Given the description of an element on the screen output the (x, y) to click on. 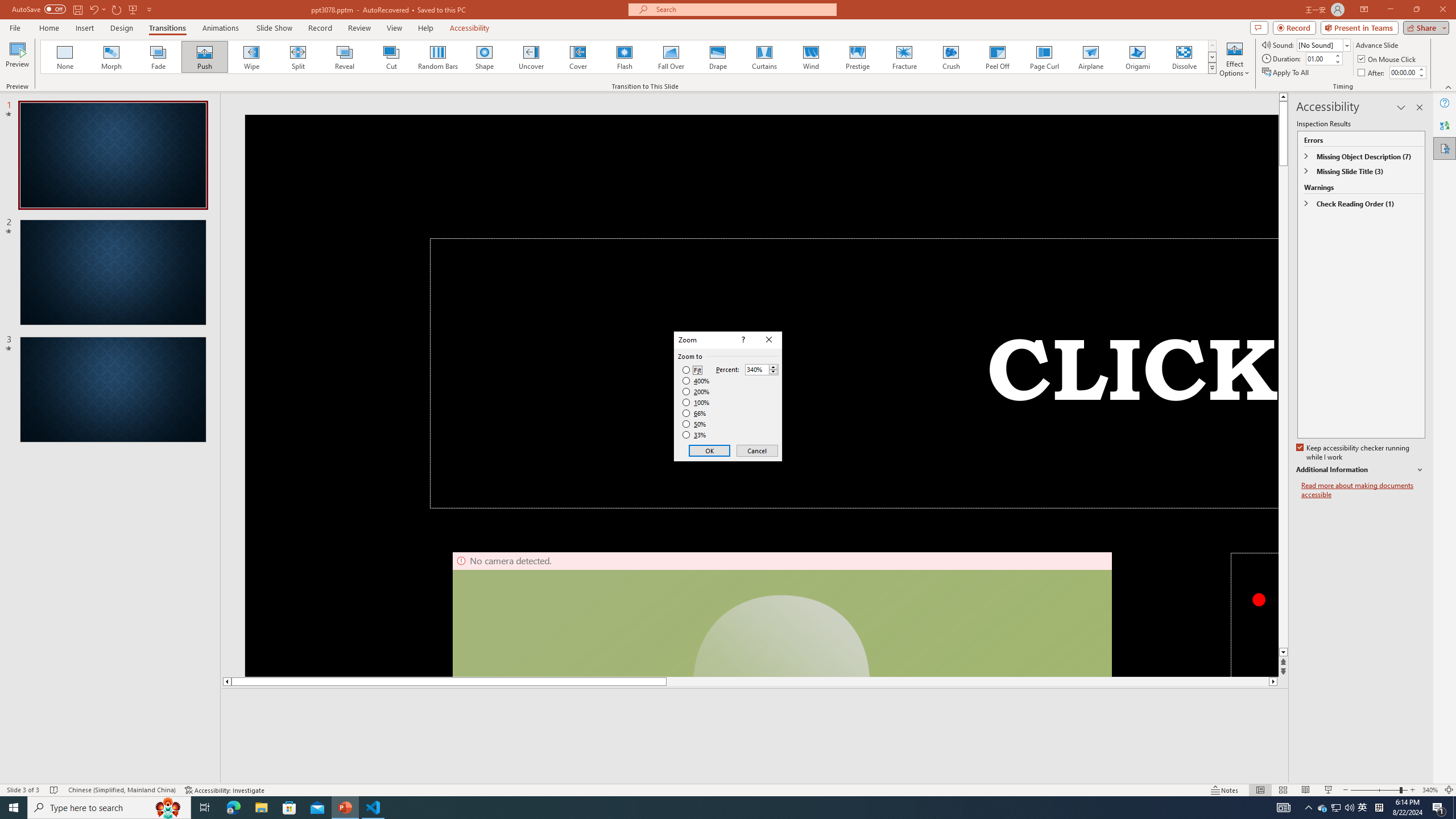
Percent (761, 369)
Cover (577, 56)
OK (709, 450)
33% (694, 434)
Airplane (1090, 56)
